Given the description of an element on the screen output the (x, y) to click on. 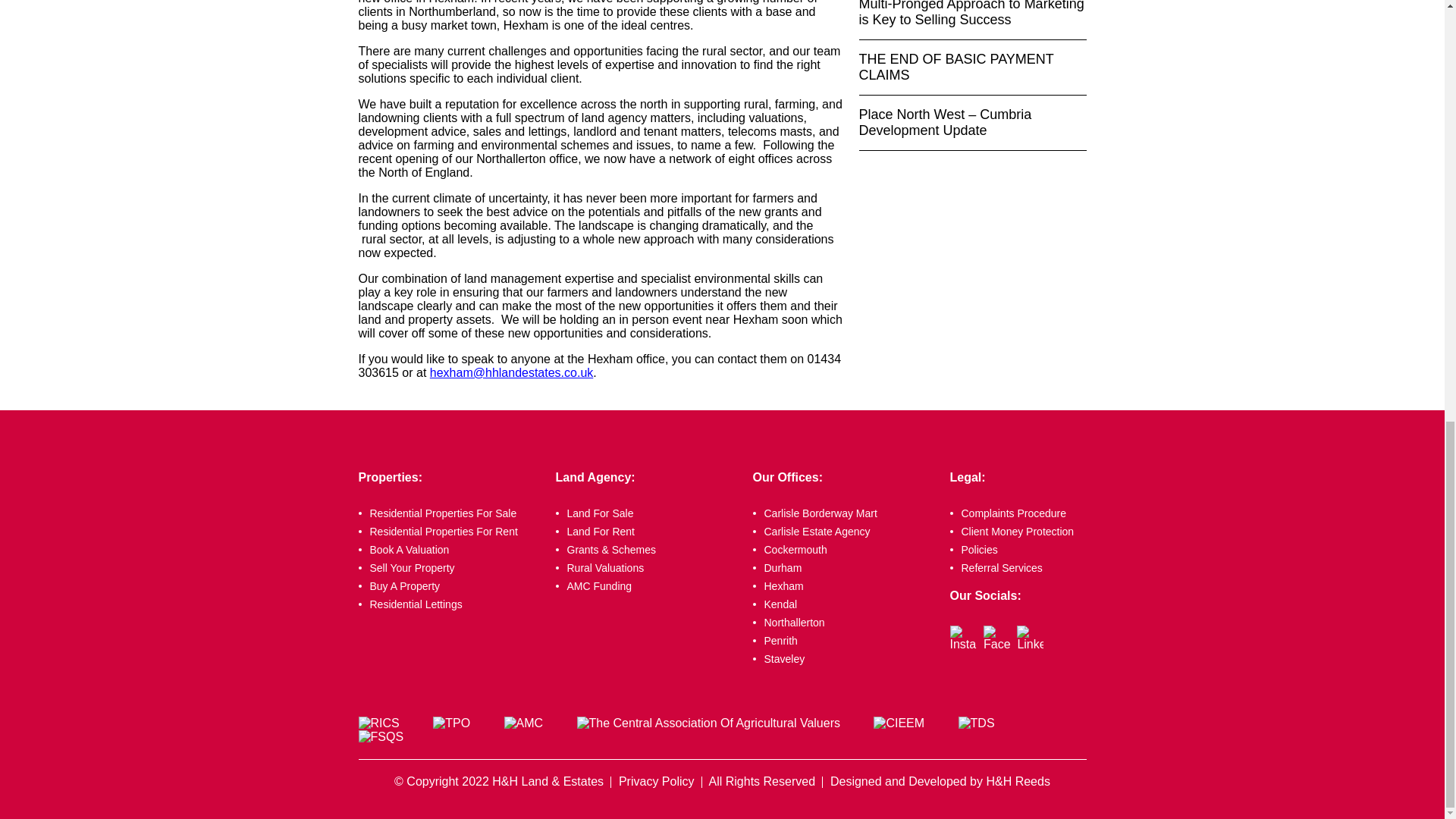
Book A Valuation (449, 549)
Residential Properties For Sale (449, 512)
Residential Properties For Rent (449, 531)
Buy A Property (449, 585)
Sell Your Property (449, 567)
THE END OF BASIC PAYMENT CLAIMS (972, 67)
